Given the description of an element on the screen output the (x, y) to click on. 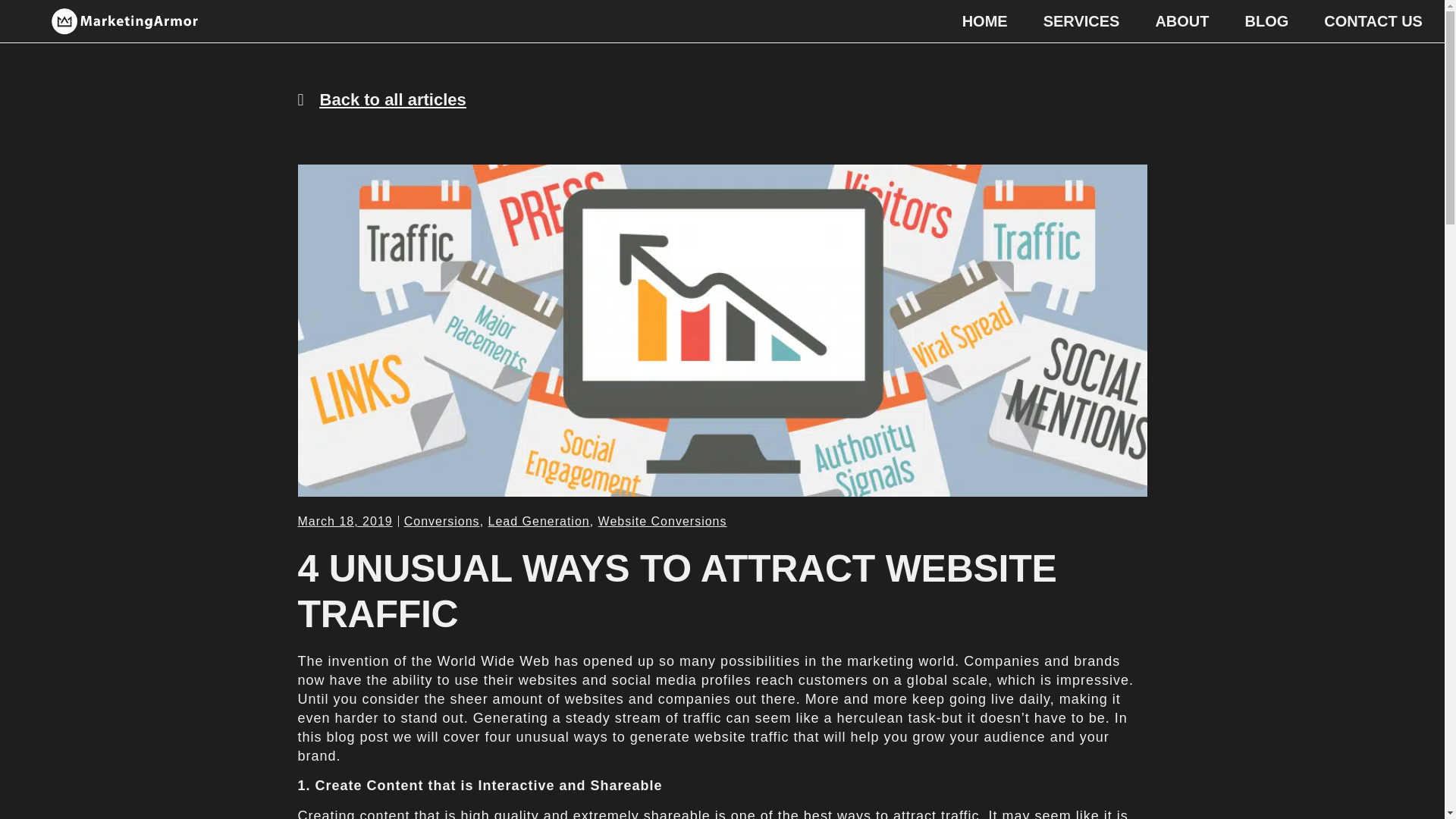
ABOUT (1181, 21)
Conversions (442, 521)
Website Conversions (662, 521)
BLOG (1266, 21)
March 18, 2019 (344, 520)
CONTACT US (1372, 21)
SERVICES (1081, 21)
HOME (984, 21)
Lead Generation (538, 521)
Back to all articles (381, 99)
